Given the description of an element on the screen output the (x, y) to click on. 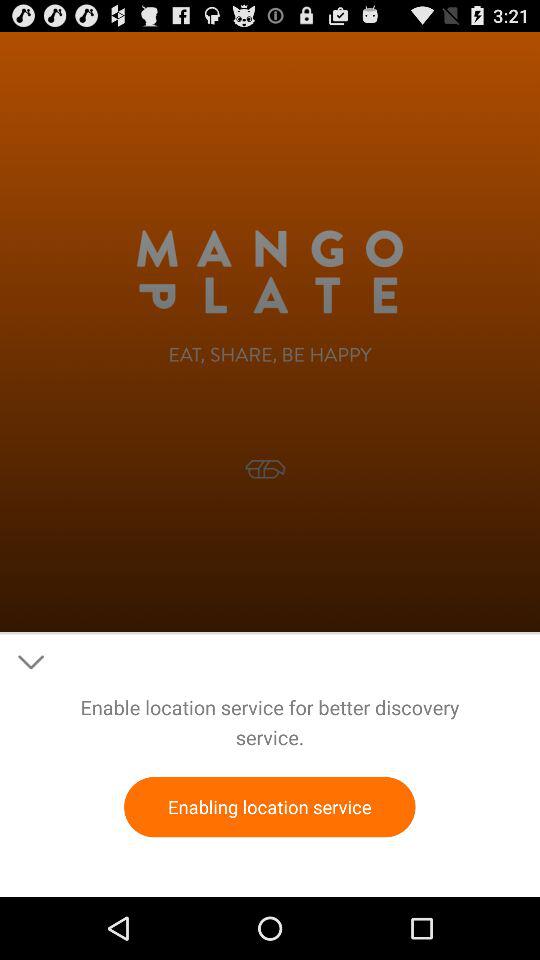
select icon at the bottom left corner (30, 662)
